Given the description of an element on the screen output the (x, y) to click on. 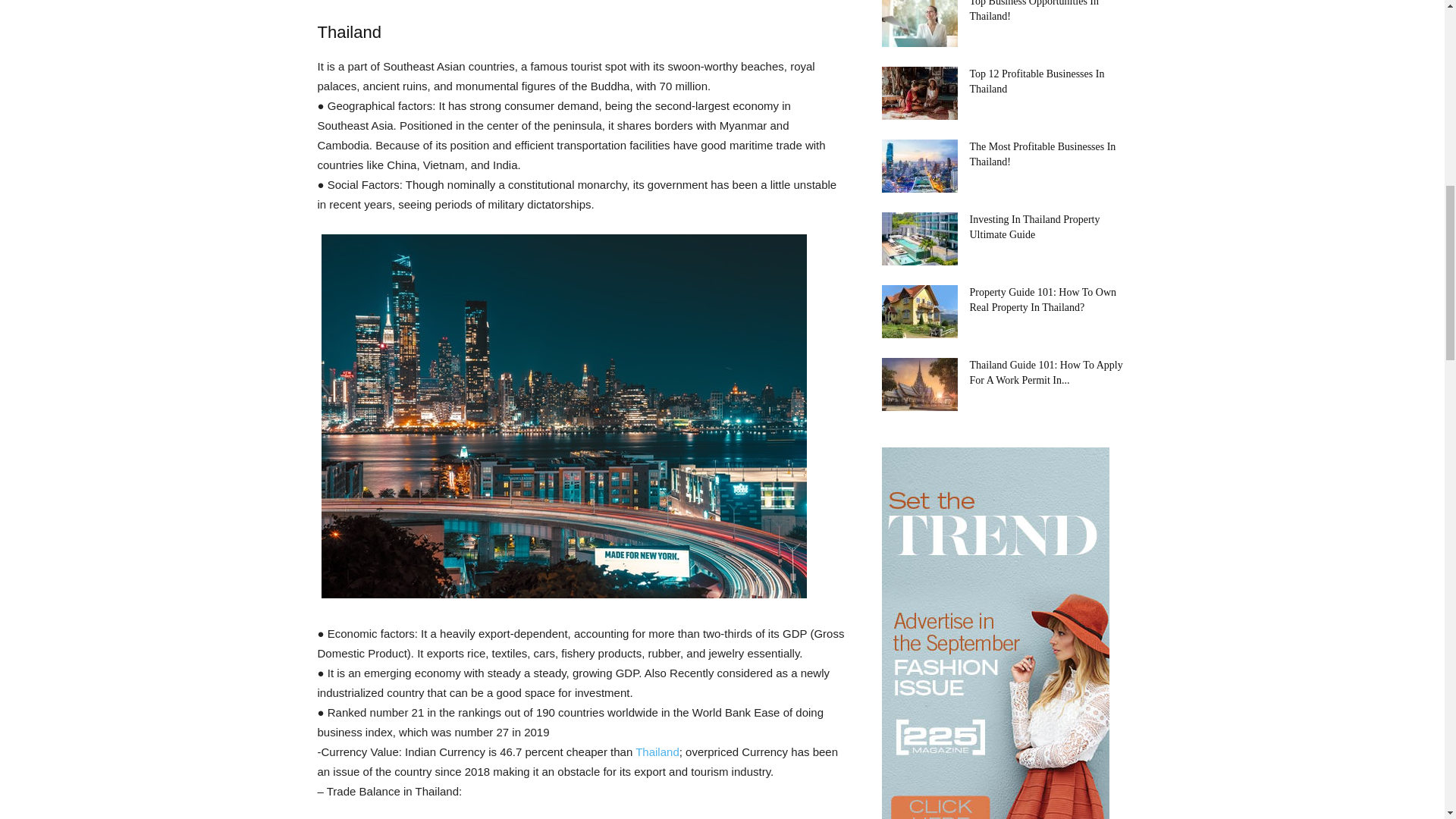
Top Business Opportunities In Thailand! (1034, 11)
Thailand (656, 751)
Top Business Opportunities In Thailand! (918, 23)
Top 12 Profitable Businesses In Thailand (918, 92)
